Given the description of an element on the screen output the (x, y) to click on. 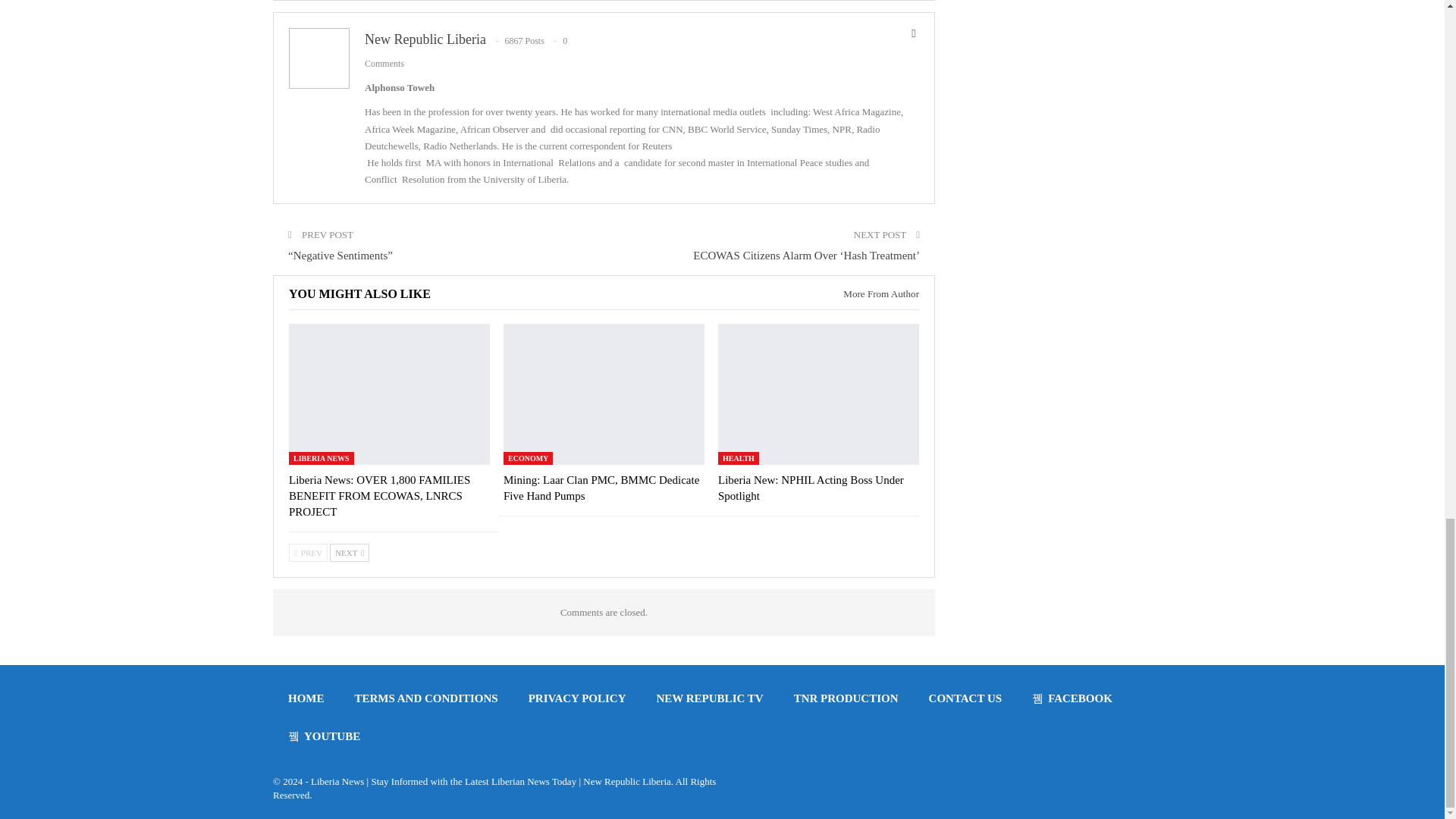
Next (349, 551)
Previous (307, 551)
Mining: Laar Clan PMC, BMMC Dedicate Five Hand Pumps (600, 487)
Mining: Laar Clan PMC, BMMC Dedicate Five Hand Pumps (603, 393)
